Given the description of an element on the screen output the (x, y) to click on. 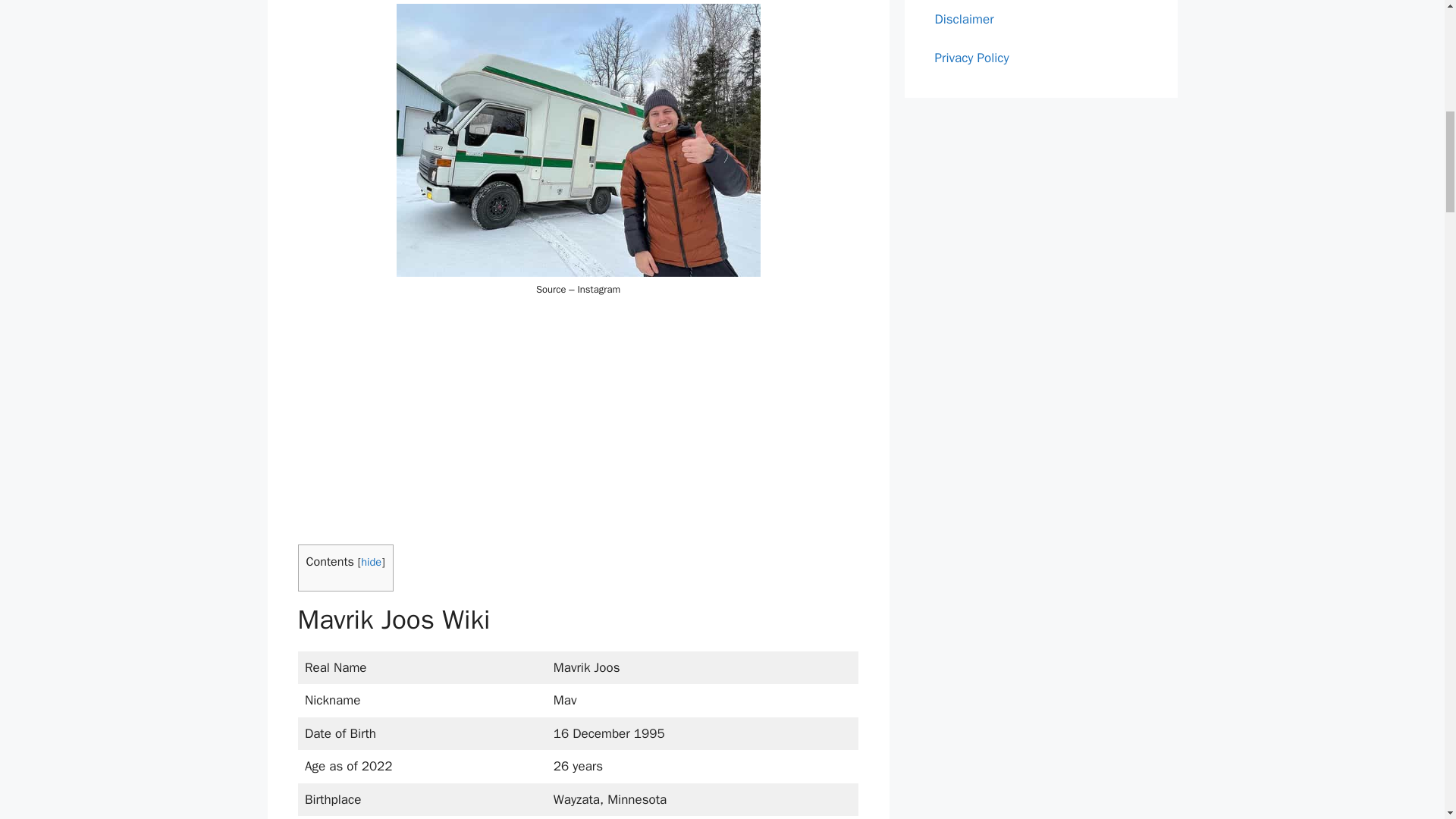
hide (371, 561)
Disclaimer (963, 18)
Advertisement (578, 418)
